Given the description of an element on the screen output the (x, y) to click on. 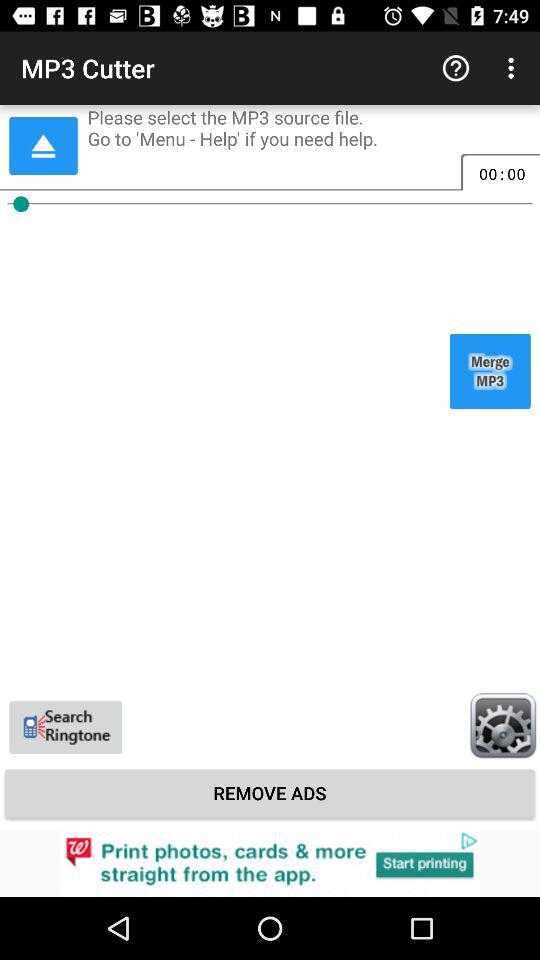
setting (503, 725)
